Given the description of an element on the screen output the (x, y) to click on. 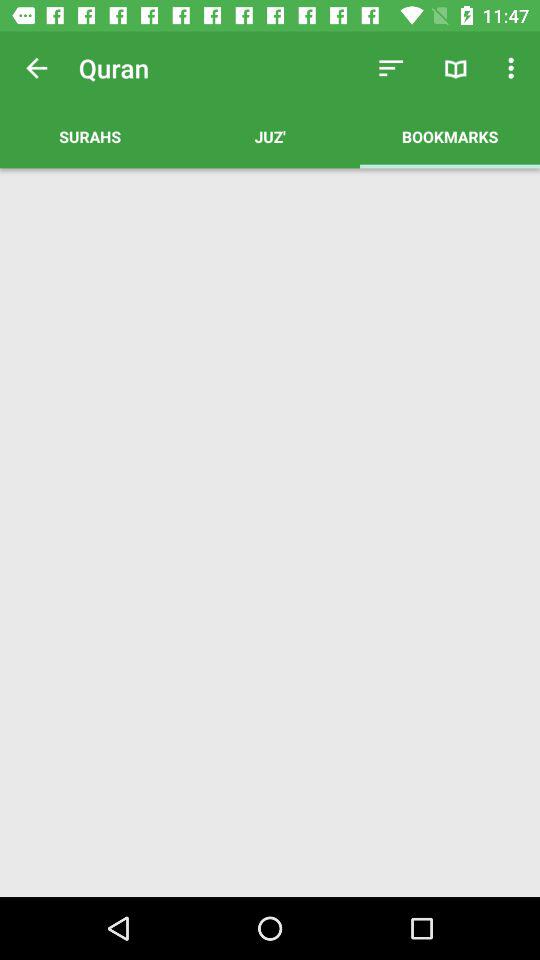
choose item above the surahs icon (36, 68)
